Given the description of an element on the screen output the (x, y) to click on. 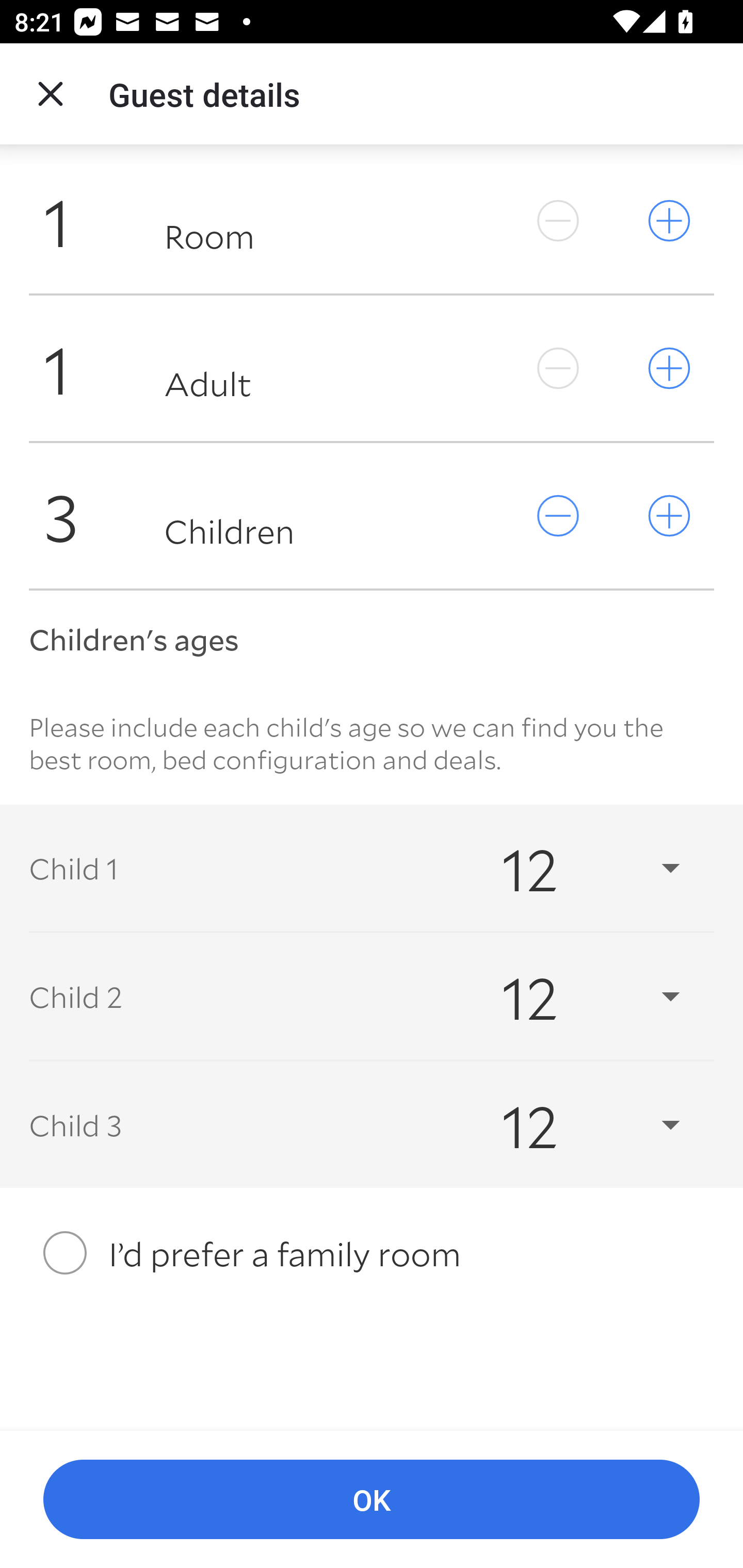
12 (573, 867)
12 (573, 996)
12 (573, 1125)
I’d prefer a family room (371, 1252)
OK (371, 1499)
